Given the description of an element on the screen output the (x, y) to click on. 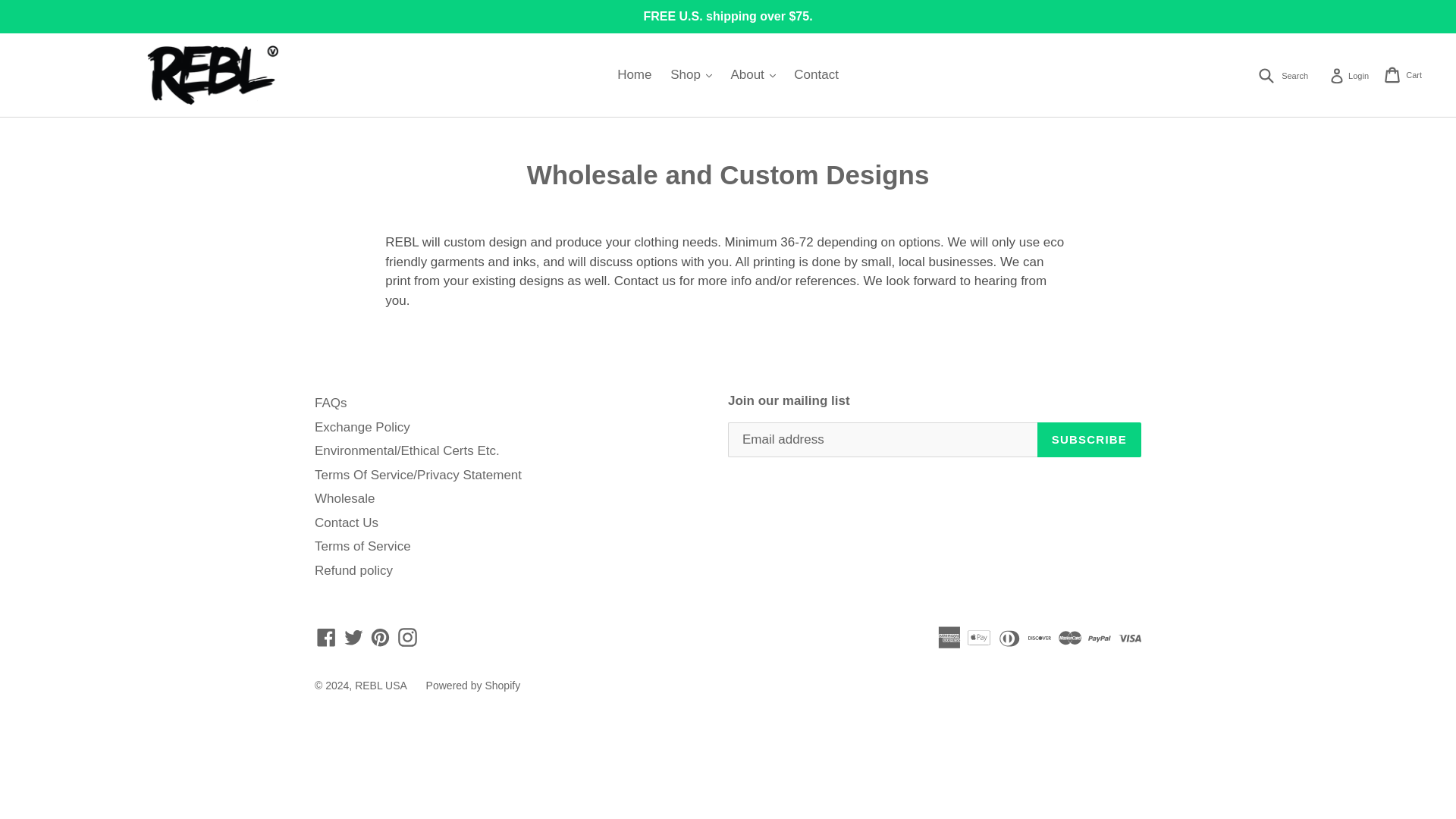
REBL USA on Facebook (325, 636)
REBL USA on Twitter (353, 636)
REBL USA on Pinterest (379, 636)
FAQs (330, 402)
Contact (815, 74)
REBL USA on Instagram (1348, 74)
Home (407, 636)
